Given the description of an element on the screen output the (x, y) to click on. 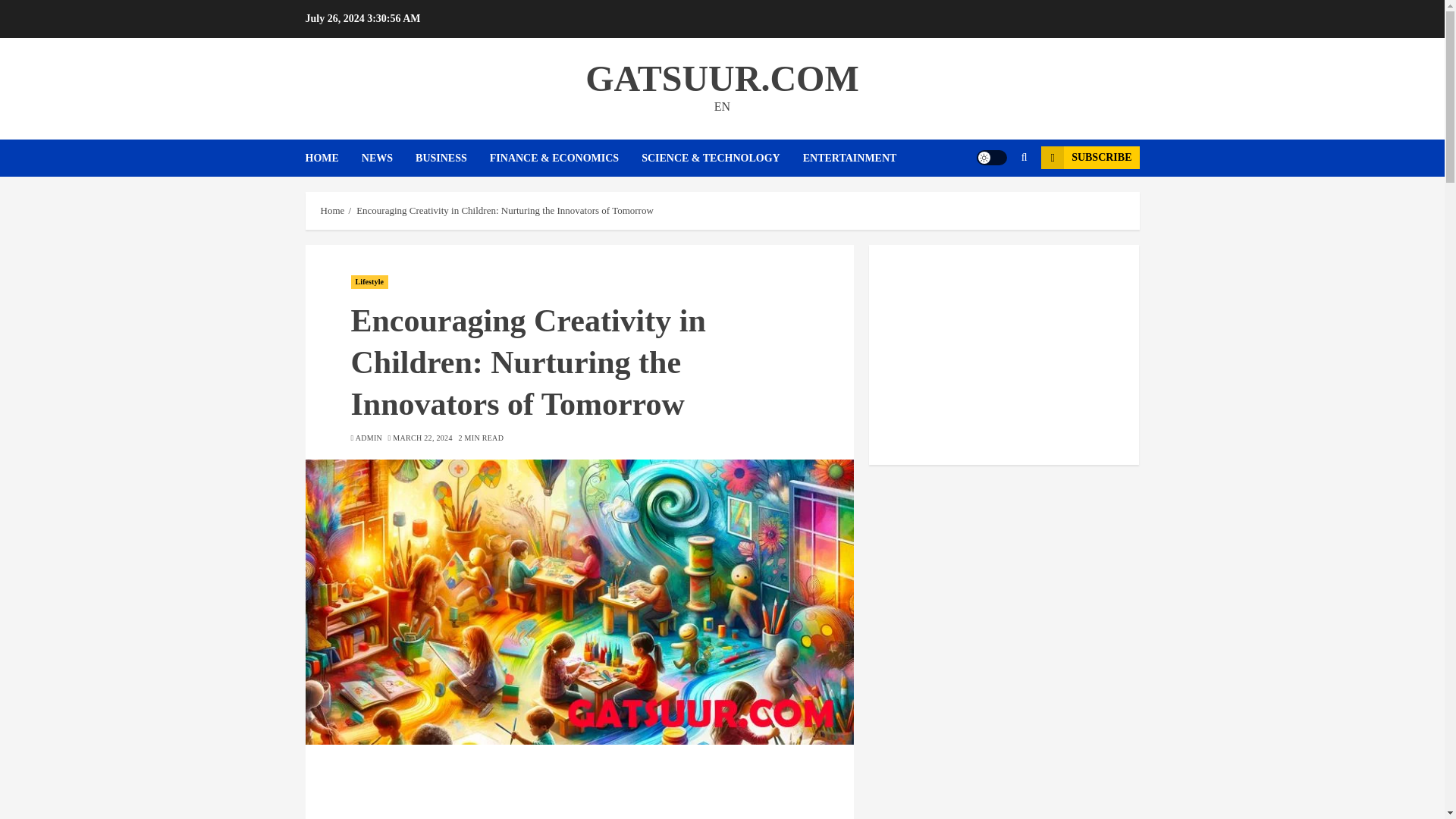
Advertisement (1003, 354)
HOME (332, 157)
ENTERTAINMENT (849, 157)
NEWS (387, 157)
Lifestyle (369, 282)
ADMIN (368, 438)
BUSINESS (451, 157)
SUBSCRIBE (1089, 157)
MARCH 22, 2024 (422, 438)
GATSUUR.COM (722, 78)
Home (331, 210)
Advertisement (579, 789)
Search (994, 203)
